Given the description of an element on the screen output the (x, y) to click on. 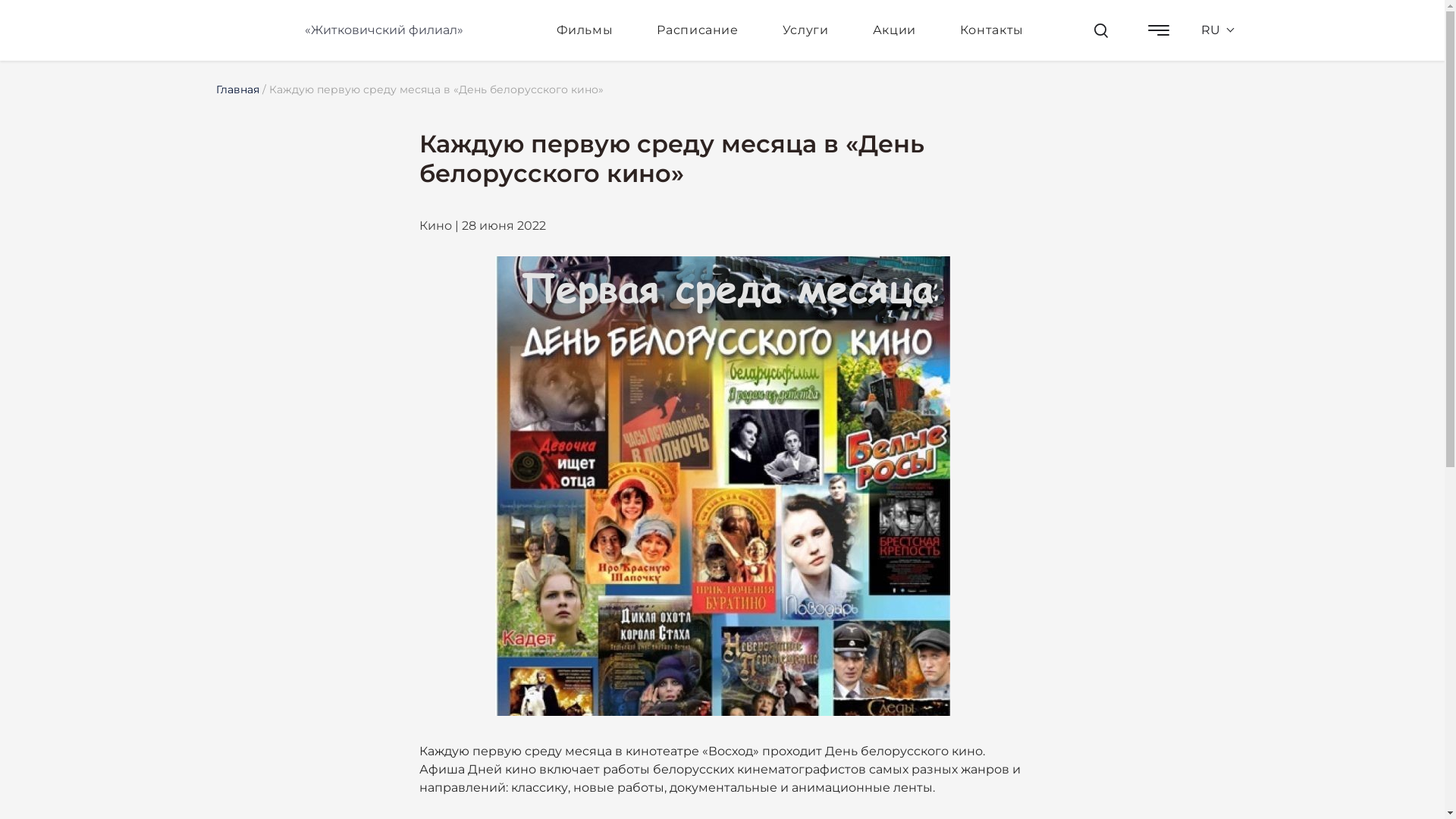
RU Element type: text (1210, 30)
